Given the description of an element on the screen output the (x, y) to click on. 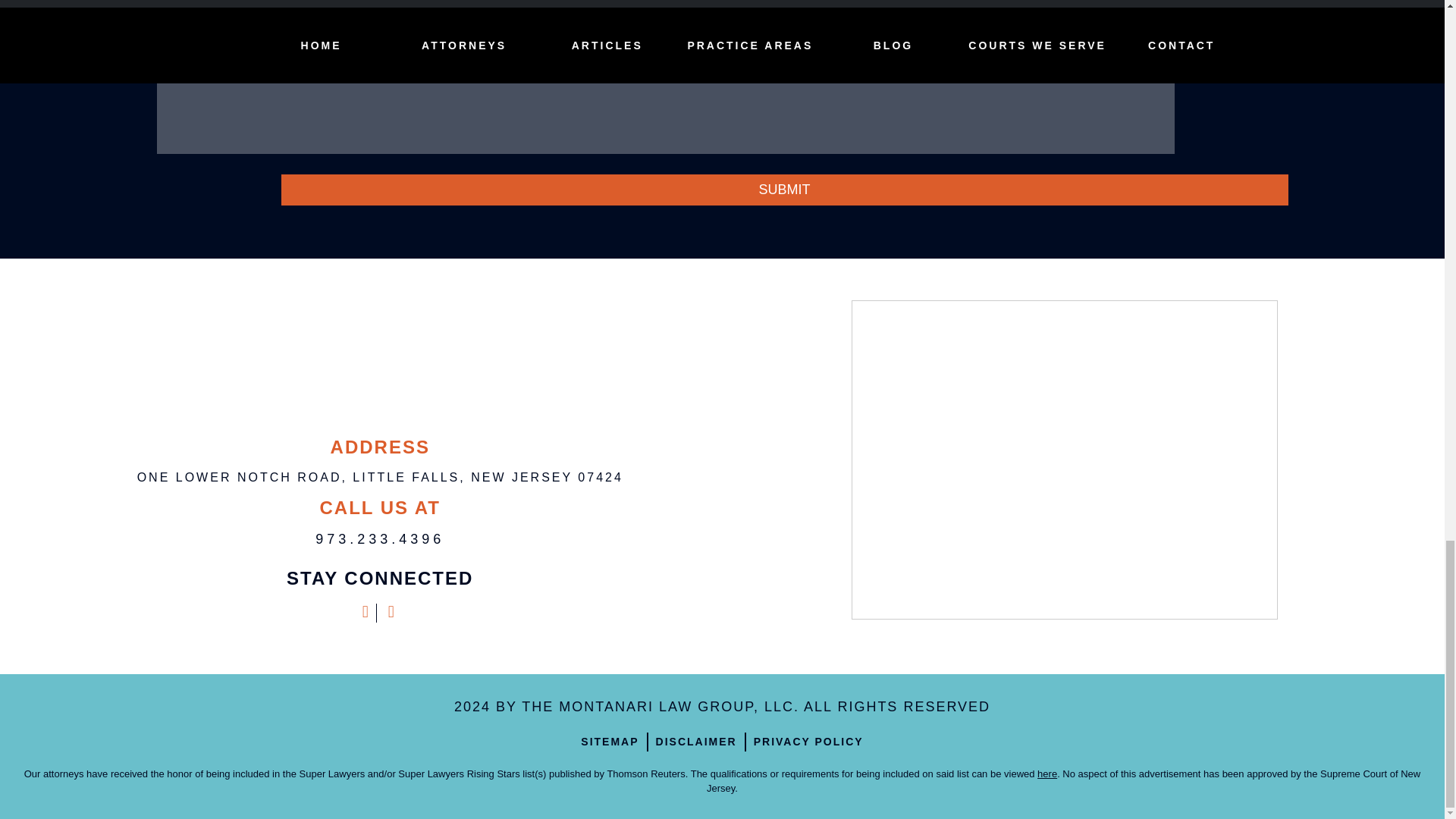
Submit (784, 189)
